Given the description of an element on the screen output the (x, y) to click on. 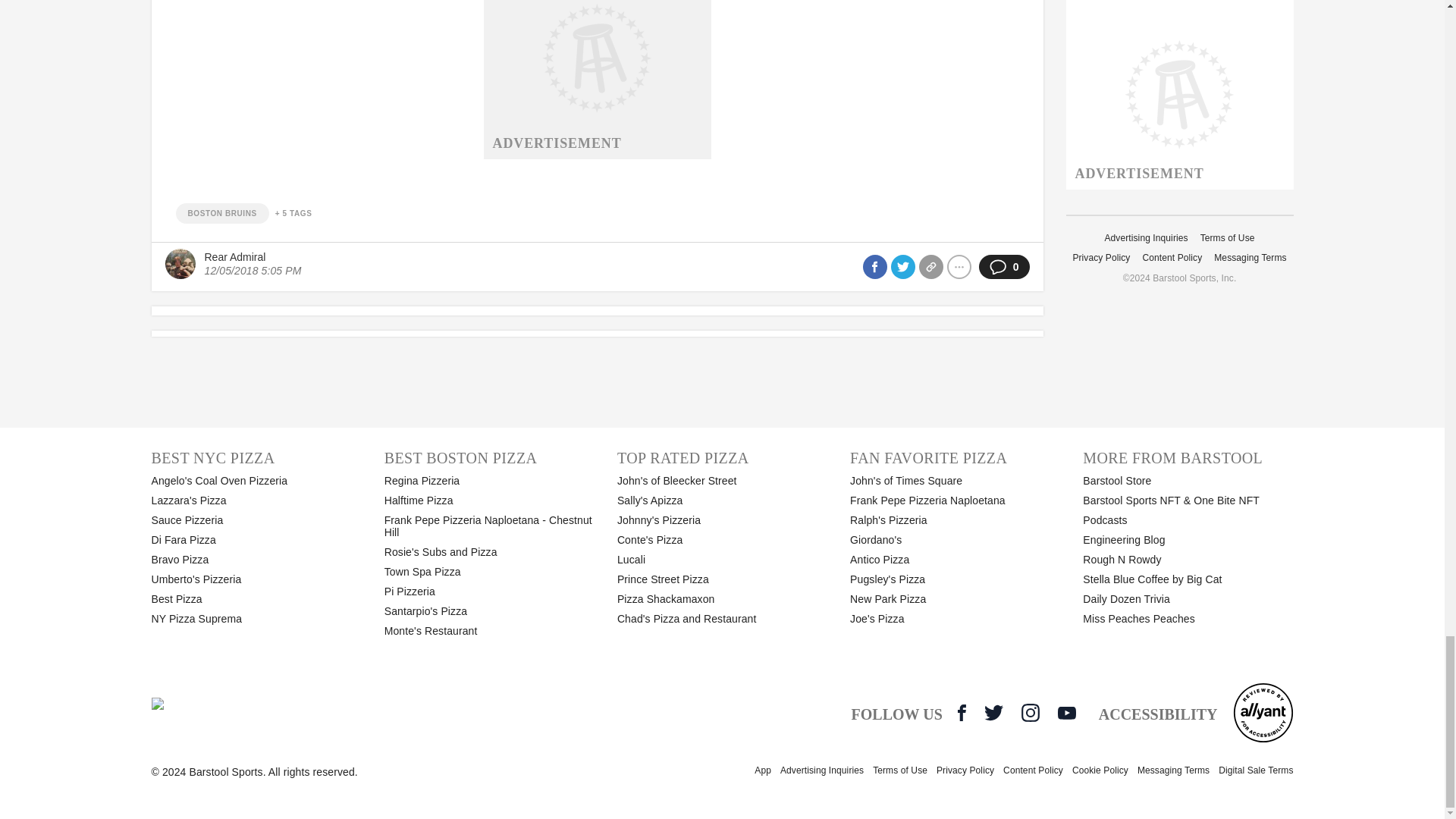
Instagram Icon (1030, 712)
Twitter Icon (993, 712)
YouTube Icon (1066, 712)
Reviewed by Allyant for accessibility (1263, 712)
